Given the description of an element on the screen output the (x, y) to click on. 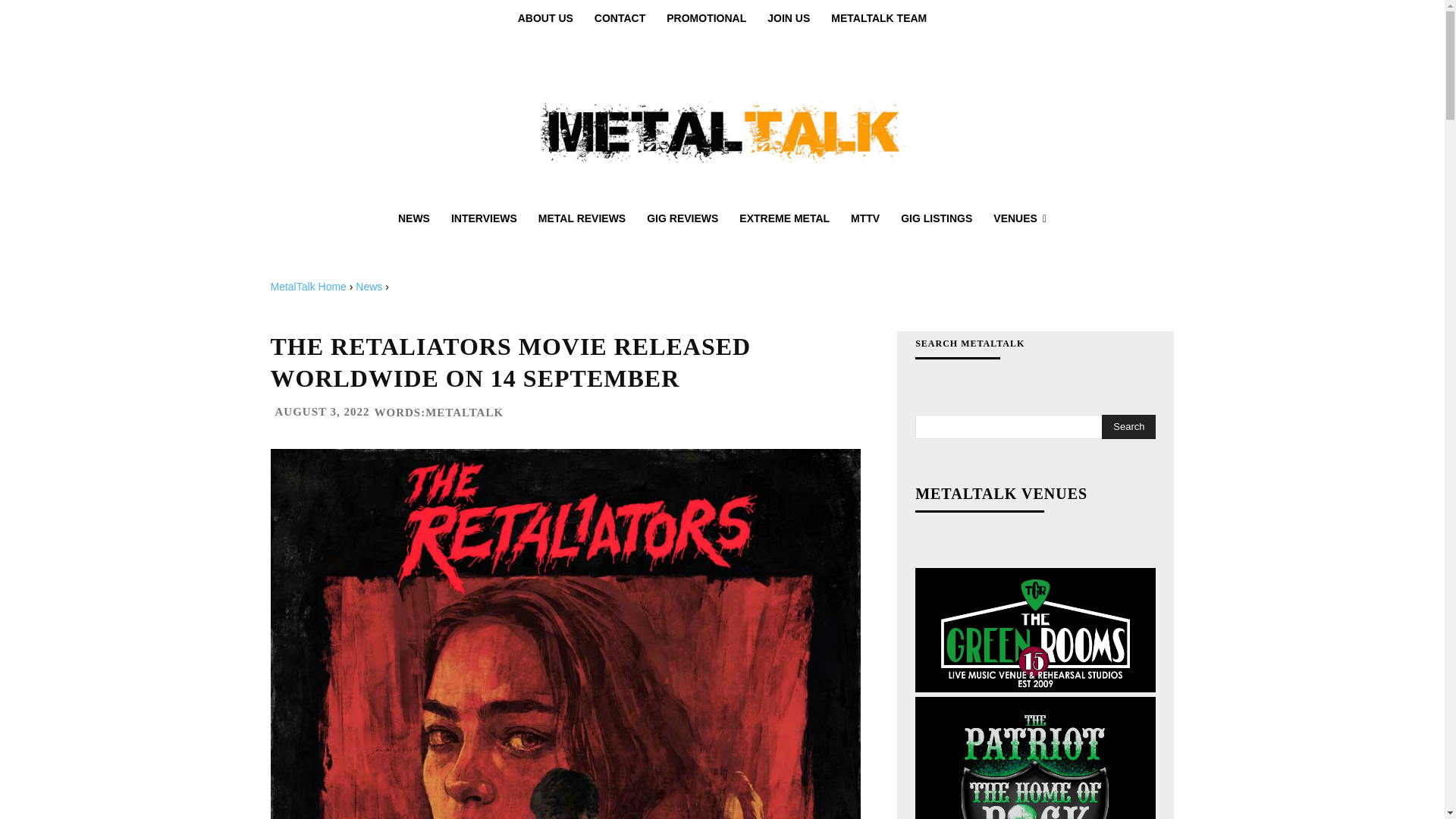
METAL REVIEWS (581, 217)
JOIN US (789, 18)
NEWS (414, 217)
VENUES (1019, 217)
MetalTalk Home (307, 286)
GIG LISTINGS (935, 217)
PROMOTIONAL (706, 18)
EXTREME METAL (784, 217)
GIG REVIEWS (682, 217)
METALTALK TEAM (879, 18)
